Given the description of an element on the screen output the (x, y) to click on. 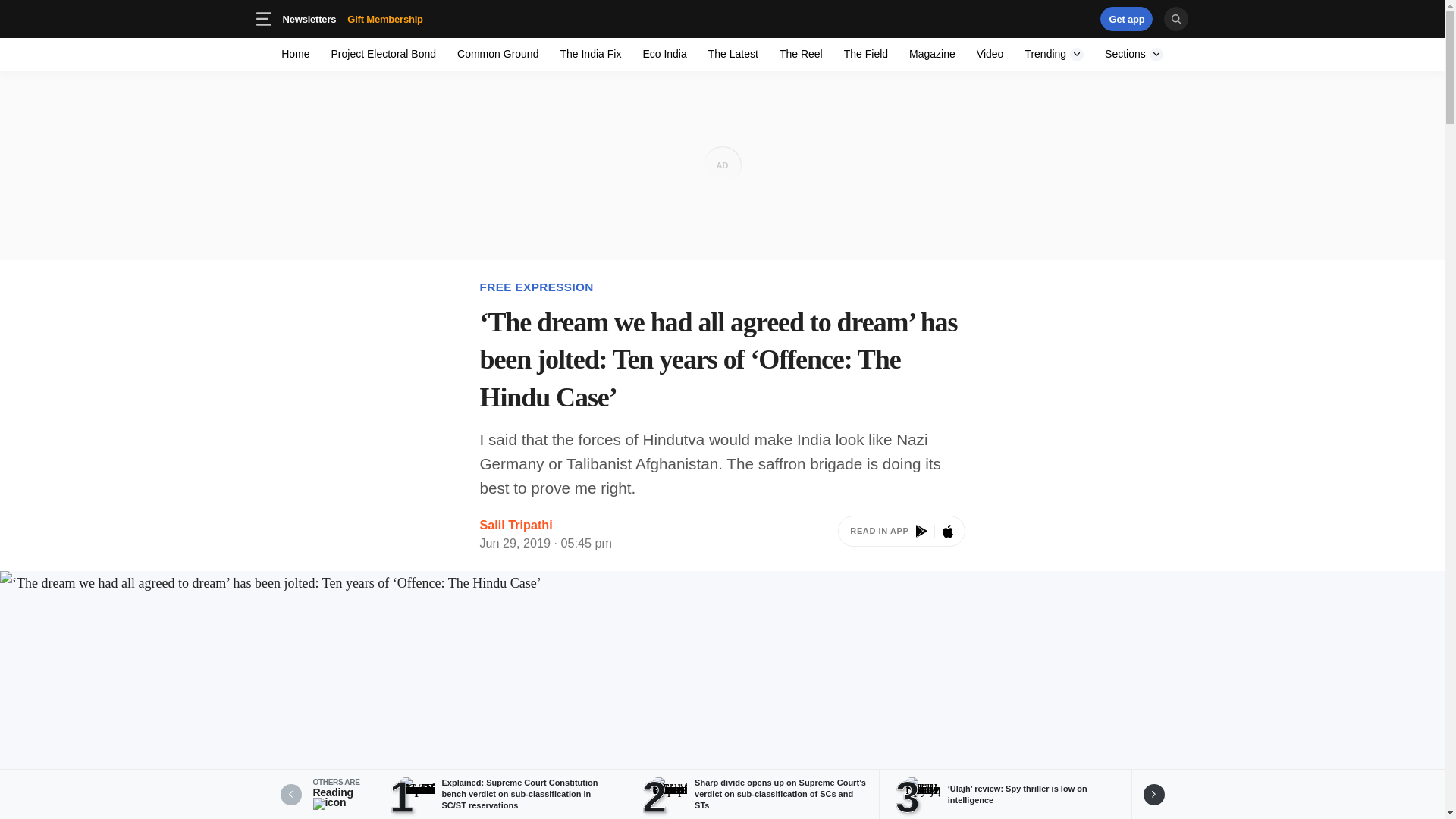
The Field (865, 53)
Trending (352, 18)
Eco India (1053, 53)
Home (664, 53)
Trending (295, 53)
Magazine (1053, 53)
The Latest (931, 53)
Get app (732, 53)
Get app (1035, 18)
The India Fix (1126, 18)
Common Ground (590, 53)
Newsletters (497, 53)
Gift Membership (309, 18)
